Given the description of an element on the screen output the (x, y) to click on. 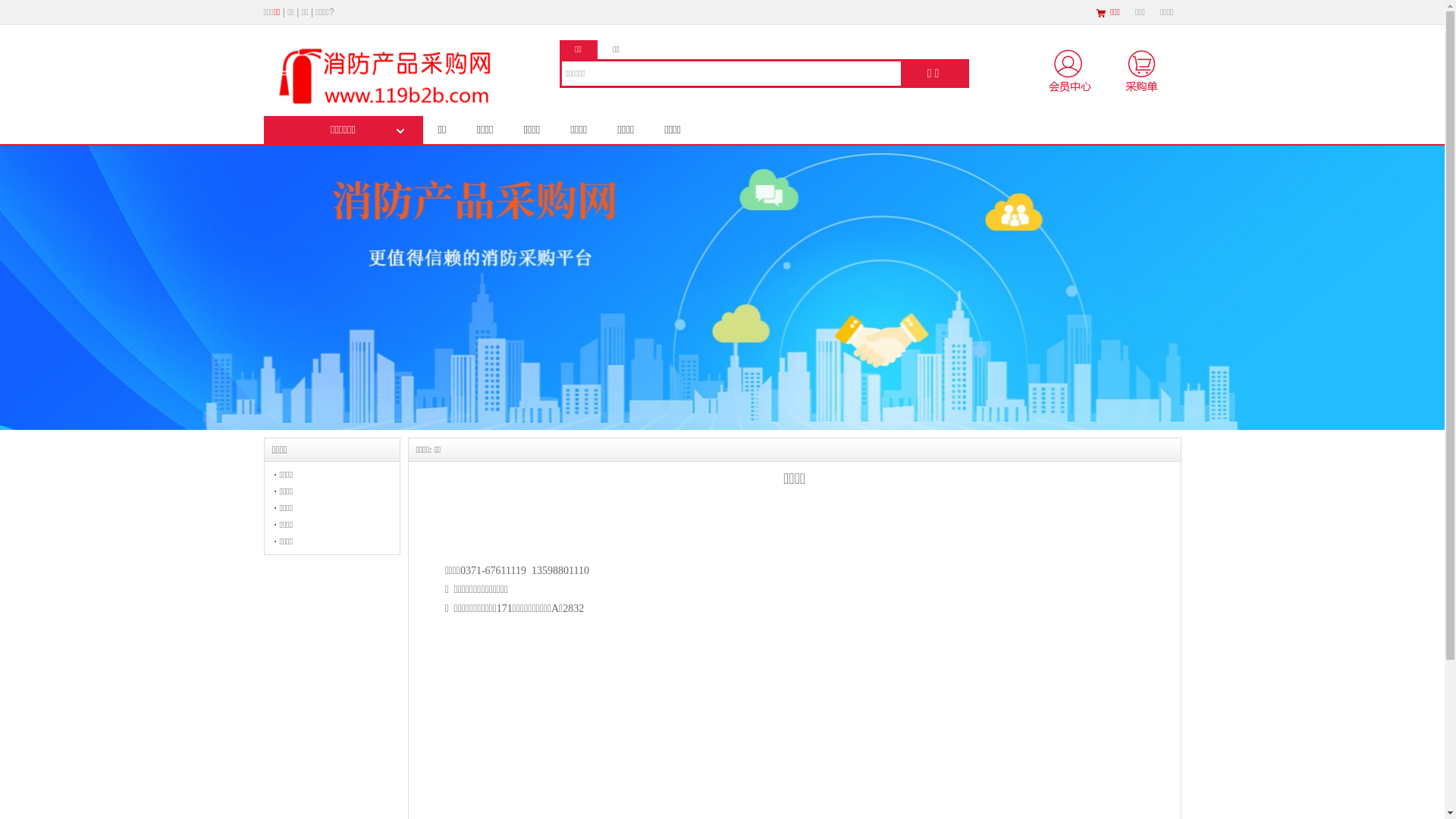
logo Element type: hover (396, 75)
